Given the description of an element on the screen output the (x, y) to click on. 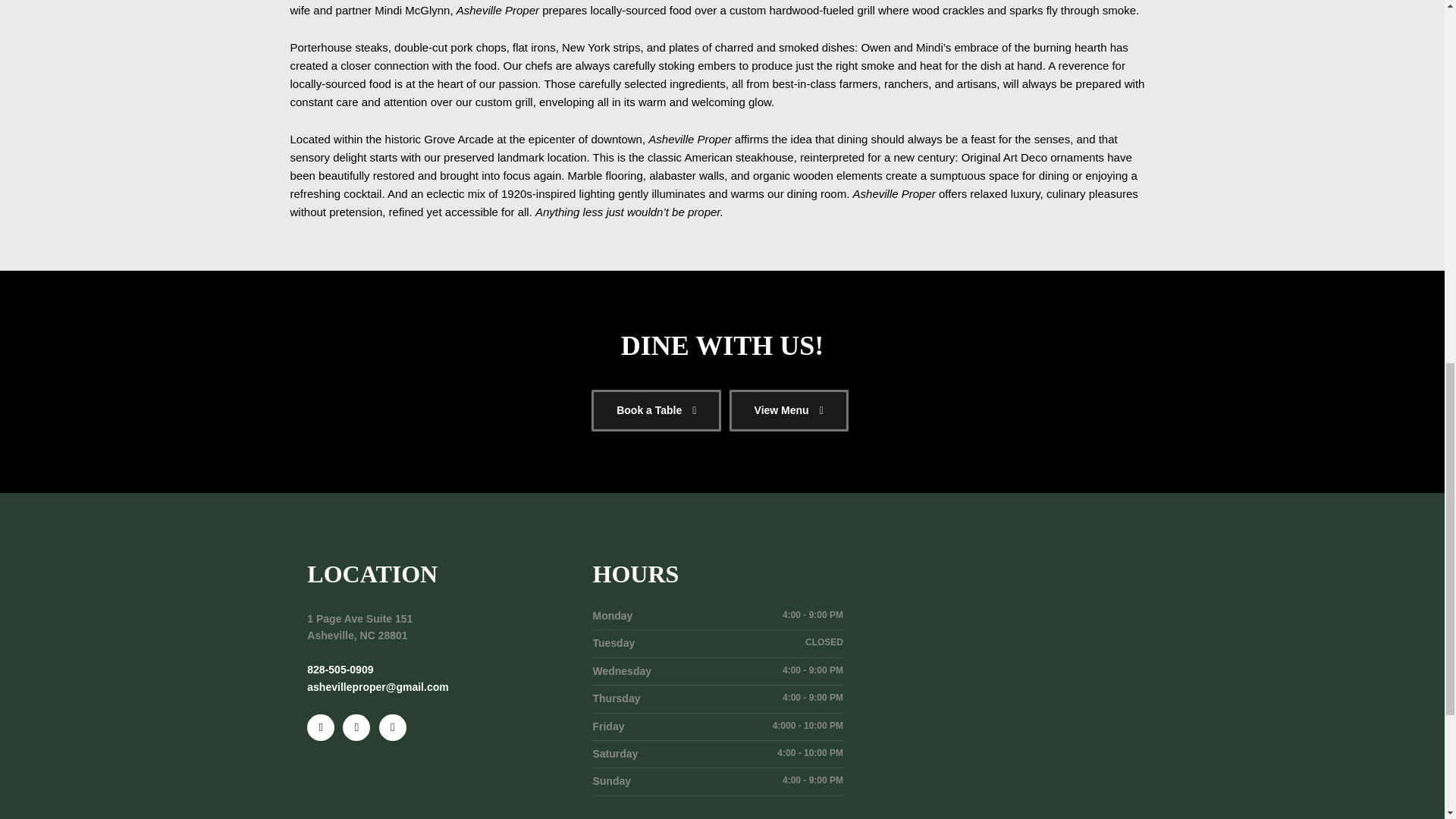
828-505-0909 (339, 669)
Book a Table (655, 410)
Grove Arcade (458, 138)
View Menu (788, 410)
